Given the description of an element on the screen output the (x, y) to click on. 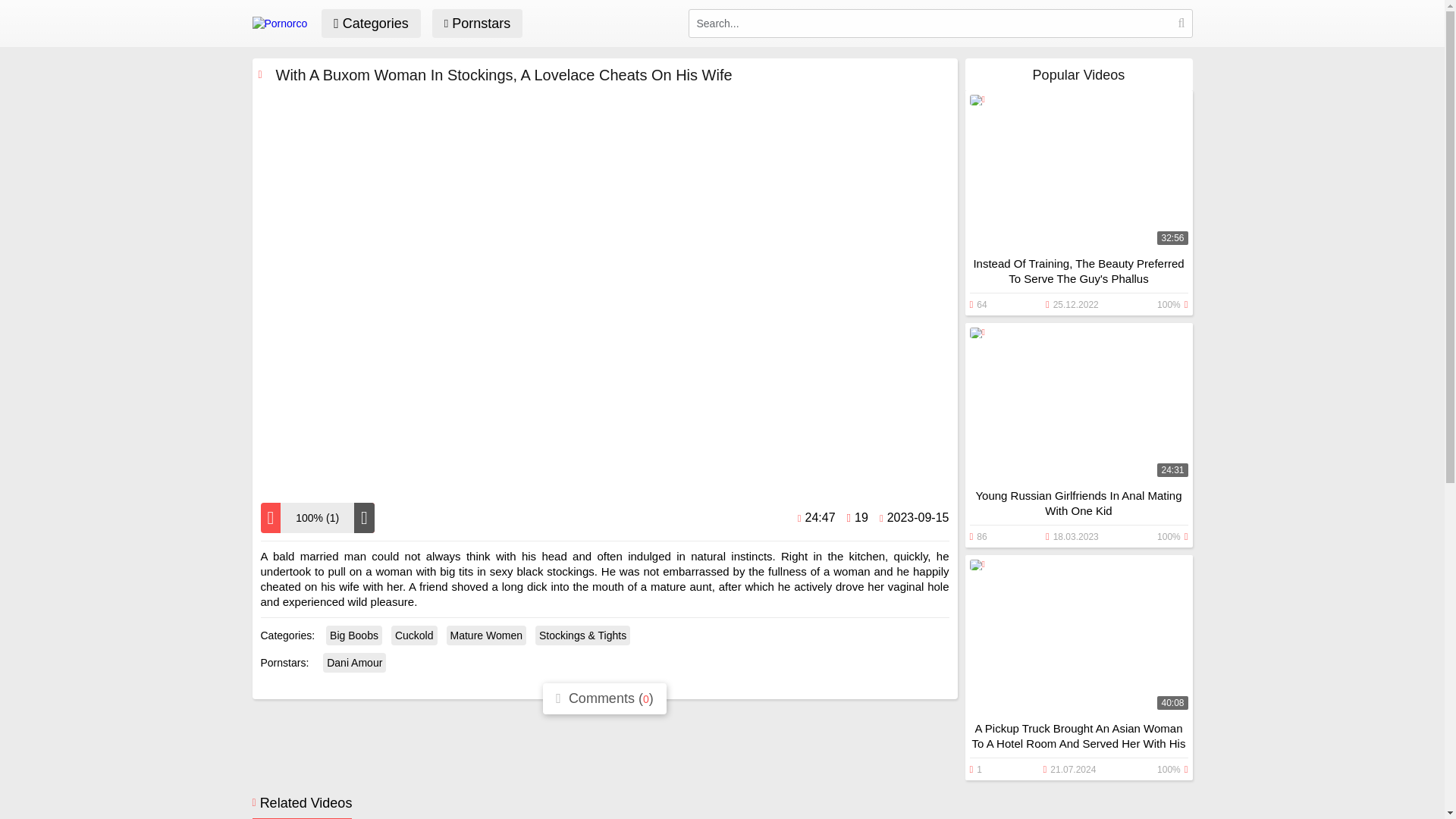
Cuckold (414, 635)
Cuckold (414, 635)
Categories (370, 23)
Mature Women (485, 635)
Pornstars (477, 23)
Pornorco (279, 23)
Big Boobs (353, 635)
Mature Women (485, 635)
Pornstars (477, 23)
Dani Amour (354, 662)
Dani Amour (354, 662)
Big Boobs (353, 635)
Categories (370, 23)
